Given the description of an element on the screen output the (x, y) to click on. 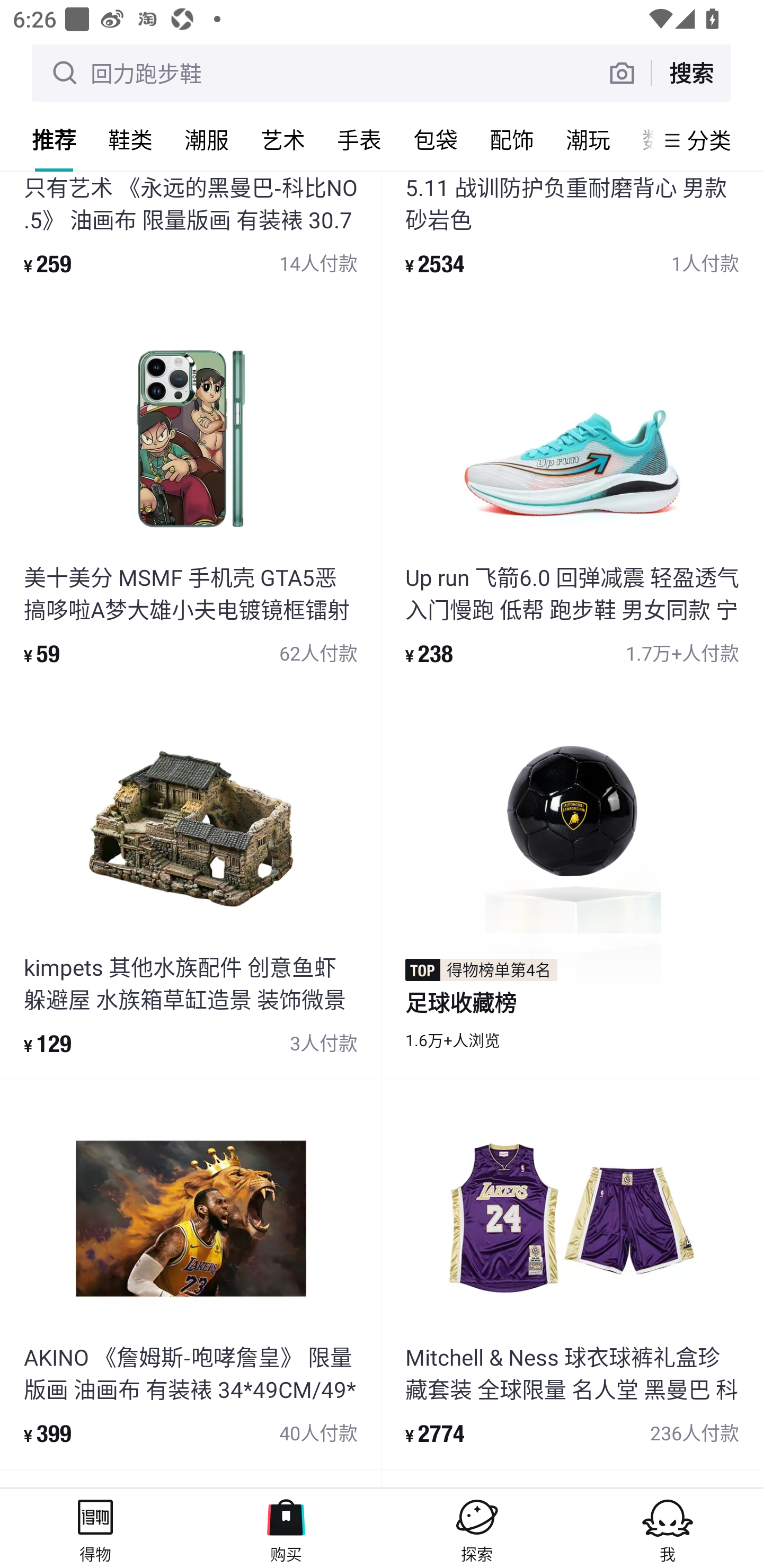
搜索 (690, 72)
推荐 (54, 139)
鞋类 (130, 139)
潮服 (206, 139)
艺术 (282, 139)
手表 (359, 139)
包袋 (435, 139)
配饰 (511, 139)
潮玩 (588, 139)
分类 (708, 139)
product_item 5.11 战训防护负重耐磨背心 男款 
砂岩色 ¥ 2534 1人付款 (572, 234)
得物榜单第4名 足球收藏榜 1.6万+人浏览 (572, 884)
得物 (95, 1528)
购买 (285, 1528)
探索 (476, 1528)
我 (667, 1528)
